Given the description of an element on the screen output the (x, y) to click on. 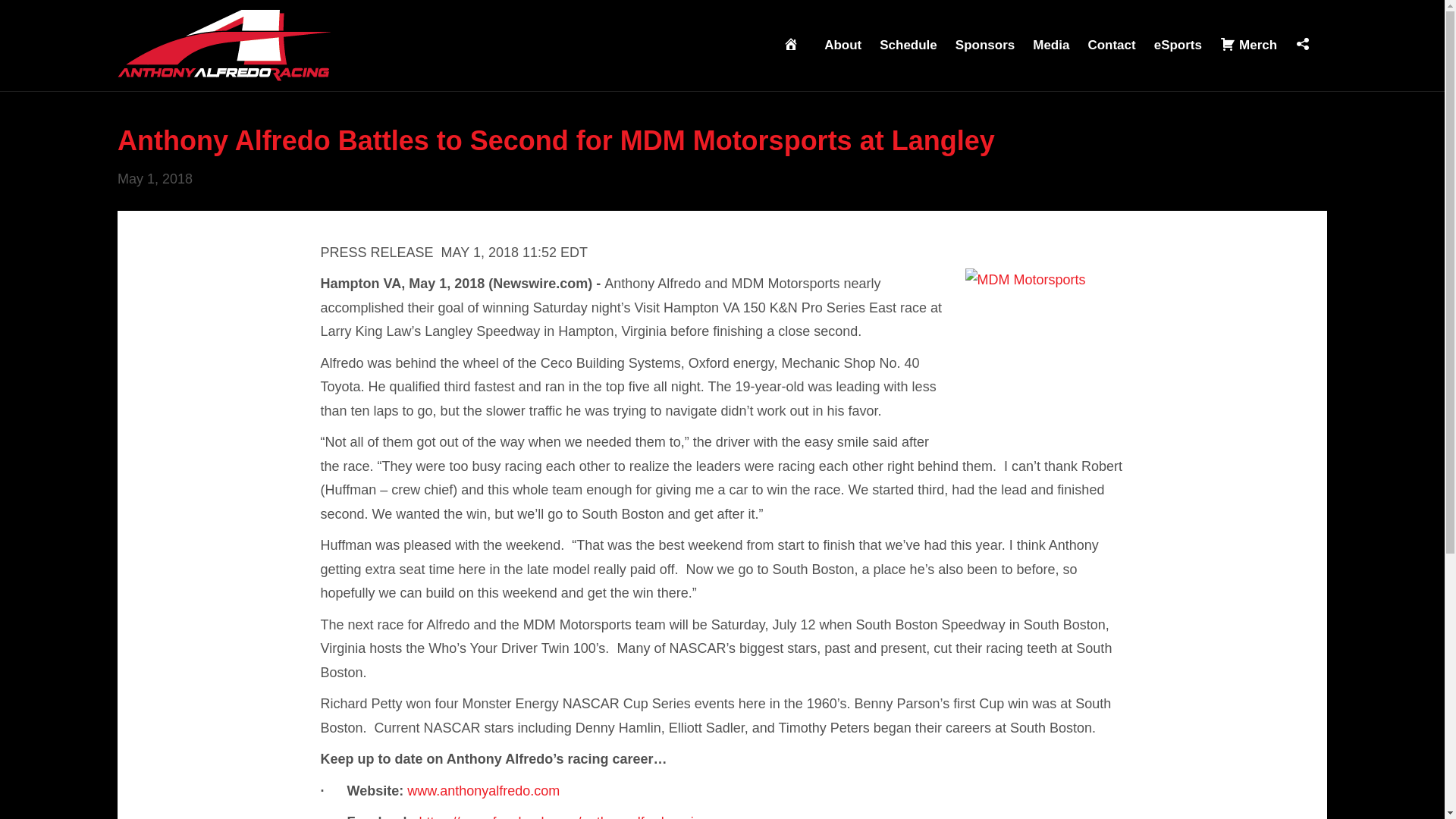
Sponsors (984, 45)
Merch (1248, 45)
Contact (1111, 45)
Schedule (908, 45)
Media (1050, 45)
eSports (1177, 45)
www.anthonyalfredo.com (483, 790)
About (842, 45)
